Given the description of an element on the screen output the (x, y) to click on. 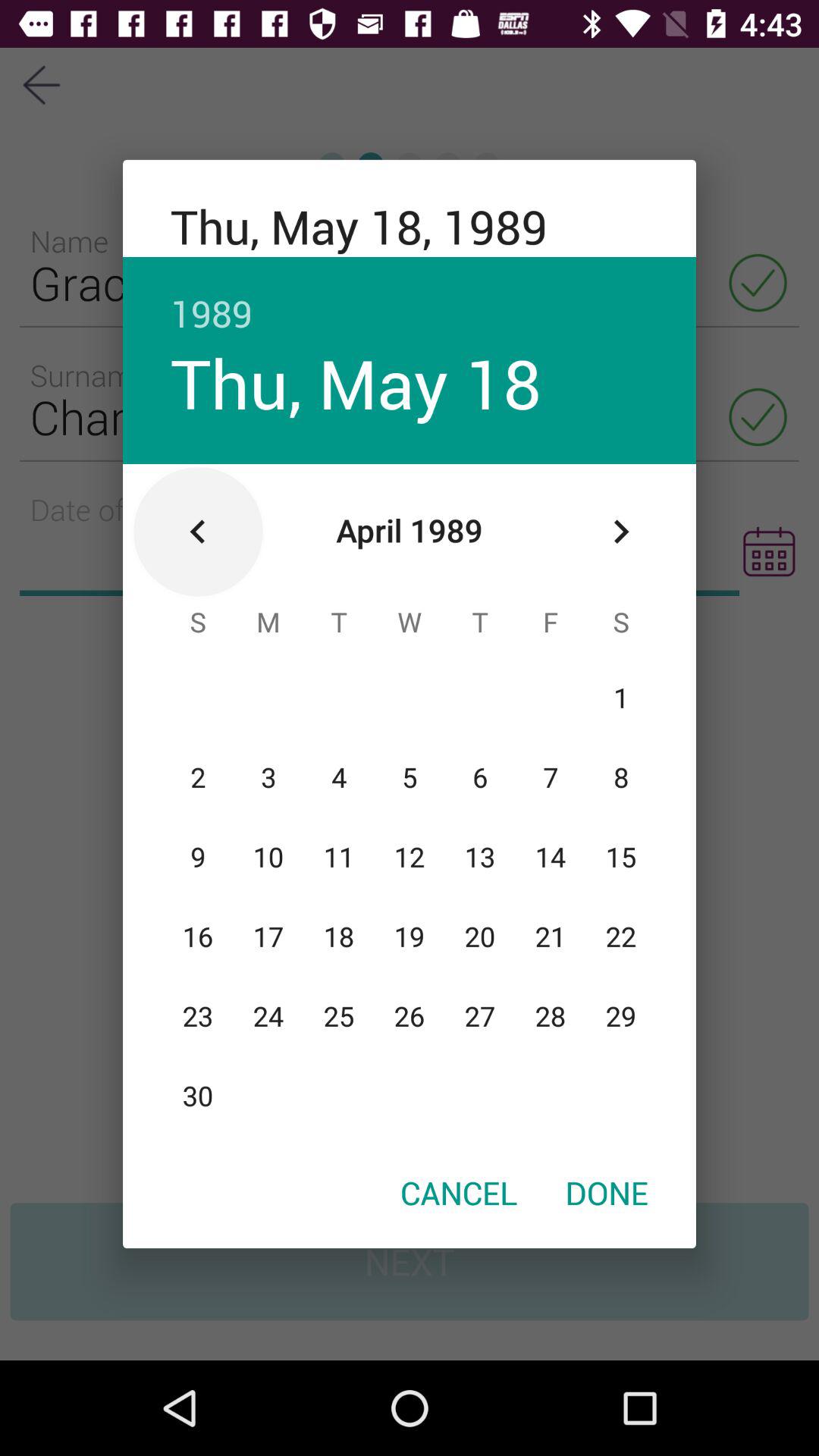
click the icon at the bottom (458, 1192)
